Given the description of an element on the screen output the (x, y) to click on. 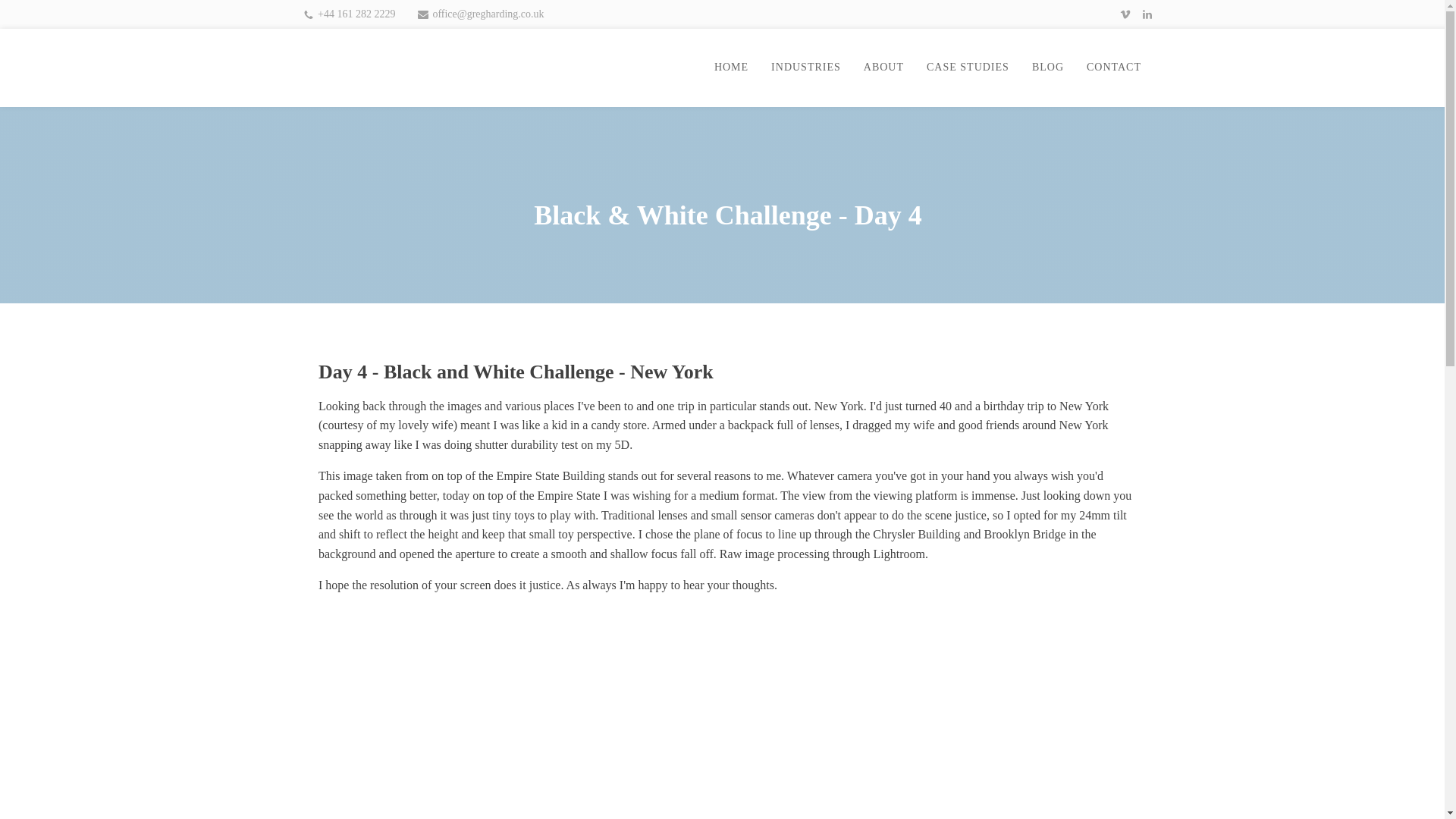
BLOG (1047, 67)
INDUSTRIES (805, 67)
CONTACT (1114, 67)
ABOUT (883, 67)
HOME (731, 67)
CASE STUDIES (967, 67)
